Given the description of an element on the screen output the (x, y) to click on. 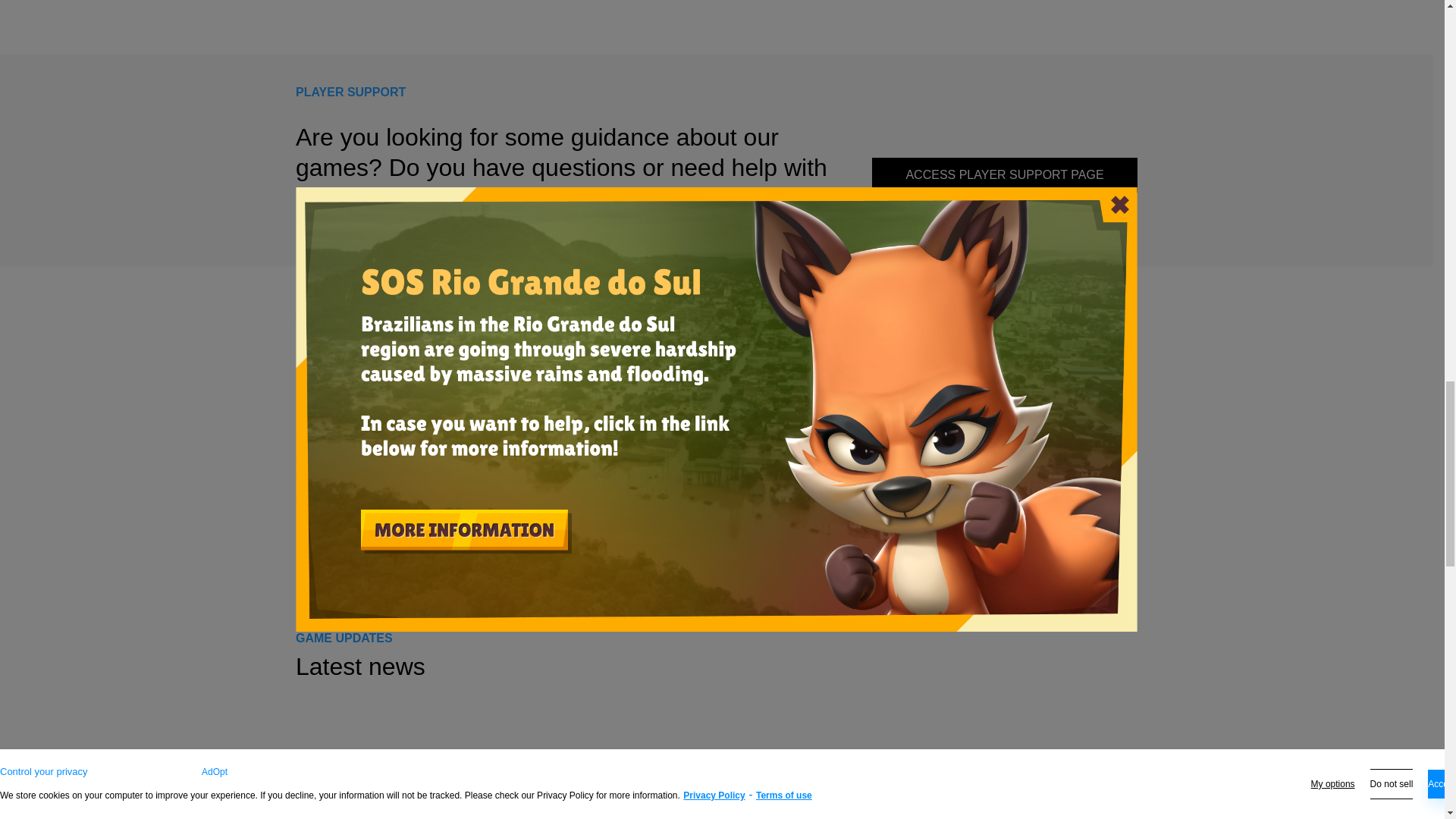
ACCESS PLAYER SUPPORT PAGE (1004, 175)
Become a Partner (344, 521)
PLAYER SUPPORT (350, 91)
2 (860, 581)
1 (837, 581)
